Given the description of an element on the screen output the (x, y) to click on. 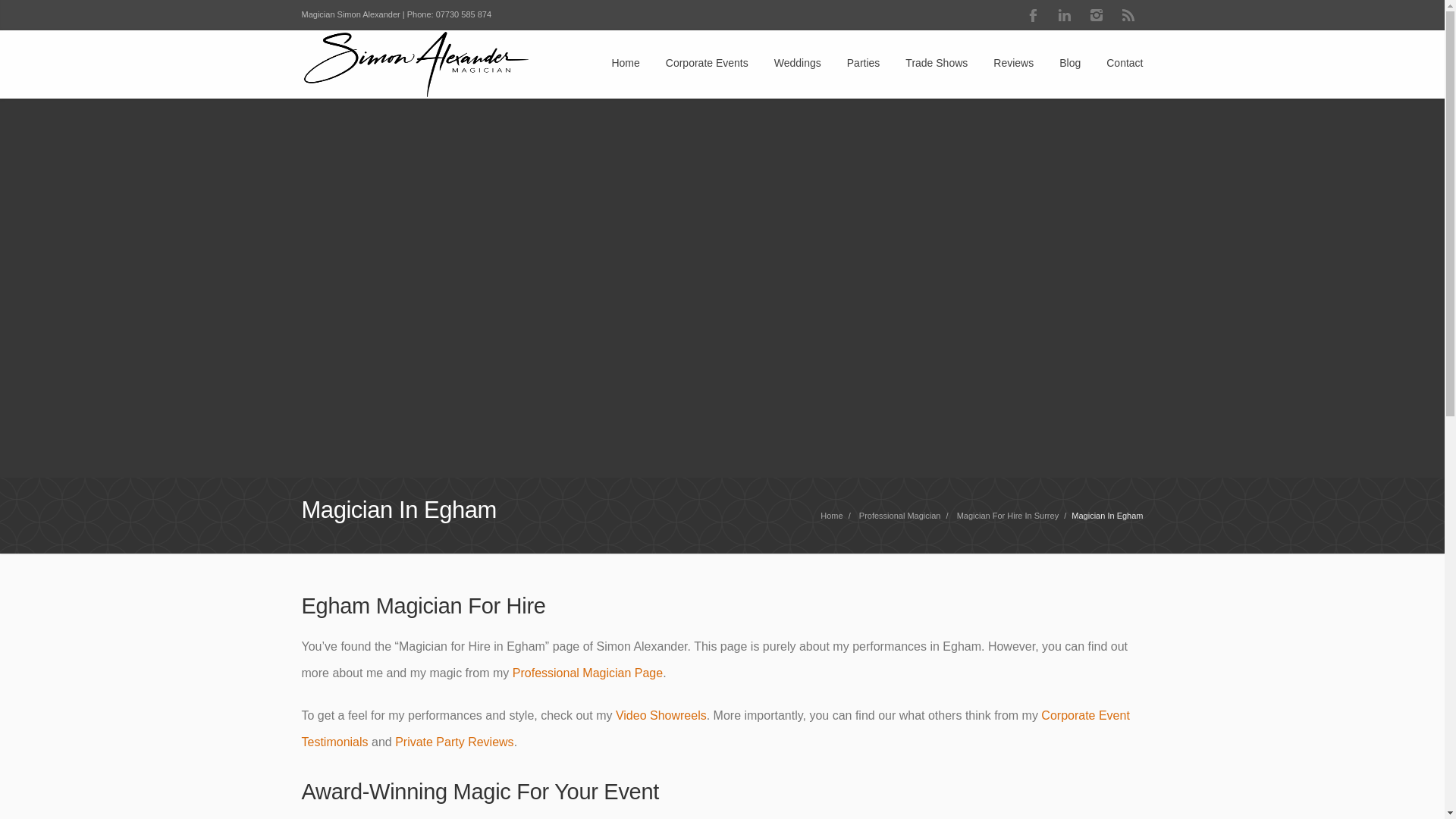
Corporate Events (706, 64)
LinkedIn (1064, 15)
Magician For Hire In Surrey (1008, 515)
Professional Magician (587, 672)
RSS (1127, 15)
Home (831, 515)
Professional Magician Page (587, 672)
Facebook (1032, 15)
Instagram (1096, 15)
Trade Shows (936, 64)
